Given the description of an element on the screen output the (x, y) to click on. 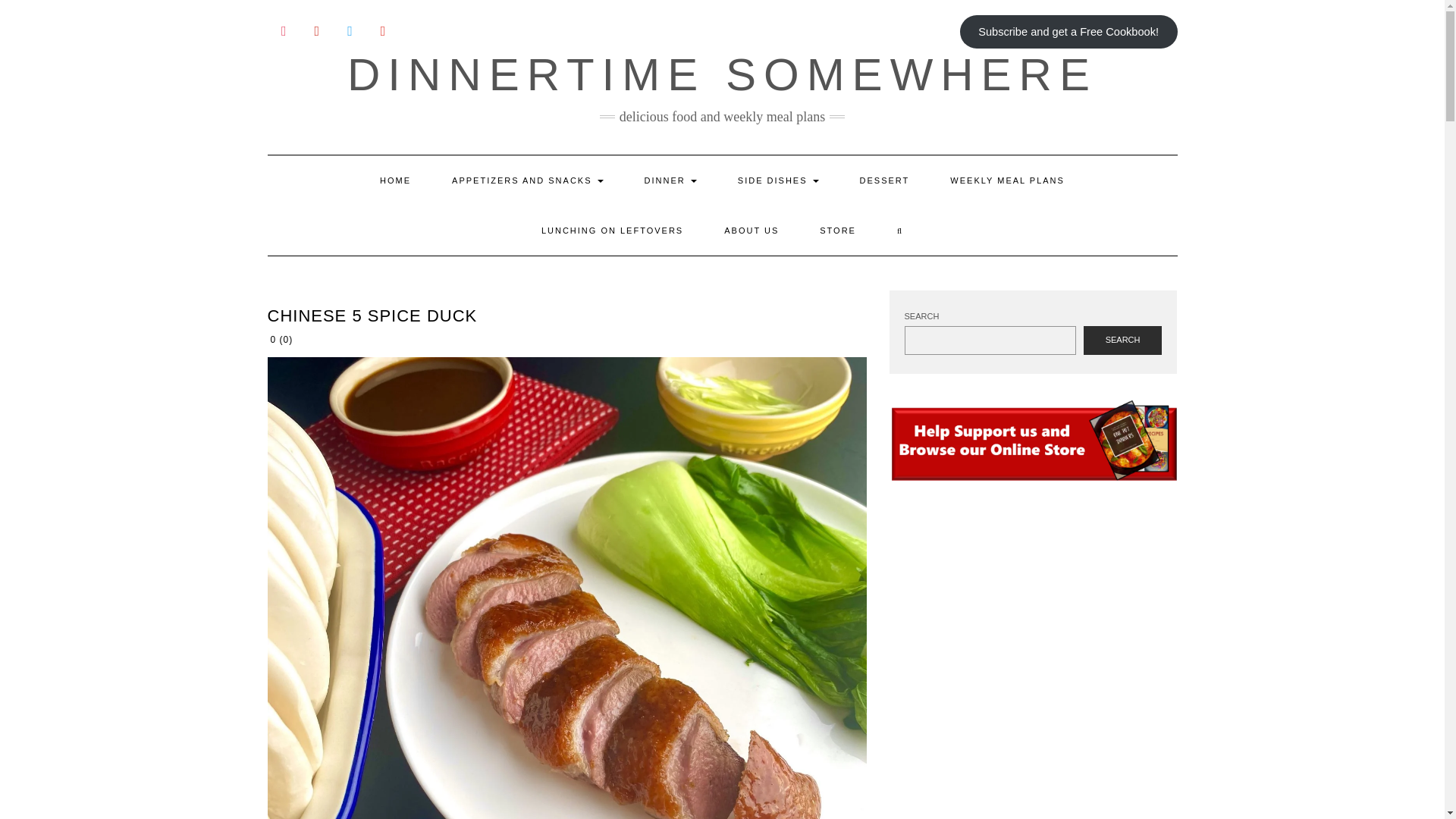
STORE (837, 230)
Subscribe and get a Free Cookbook! (1068, 31)
Youtube (382, 31)
Pinterest (316, 31)
LUNCHING ON LEFTOVERS (612, 230)
DINNER (670, 180)
DESSERT (885, 180)
HOME (394, 180)
DINNERTIME SOMEWHERE (722, 74)
APPETIZERS AND SNACKS (526, 180)
